Given the description of an element on the screen output the (x, y) to click on. 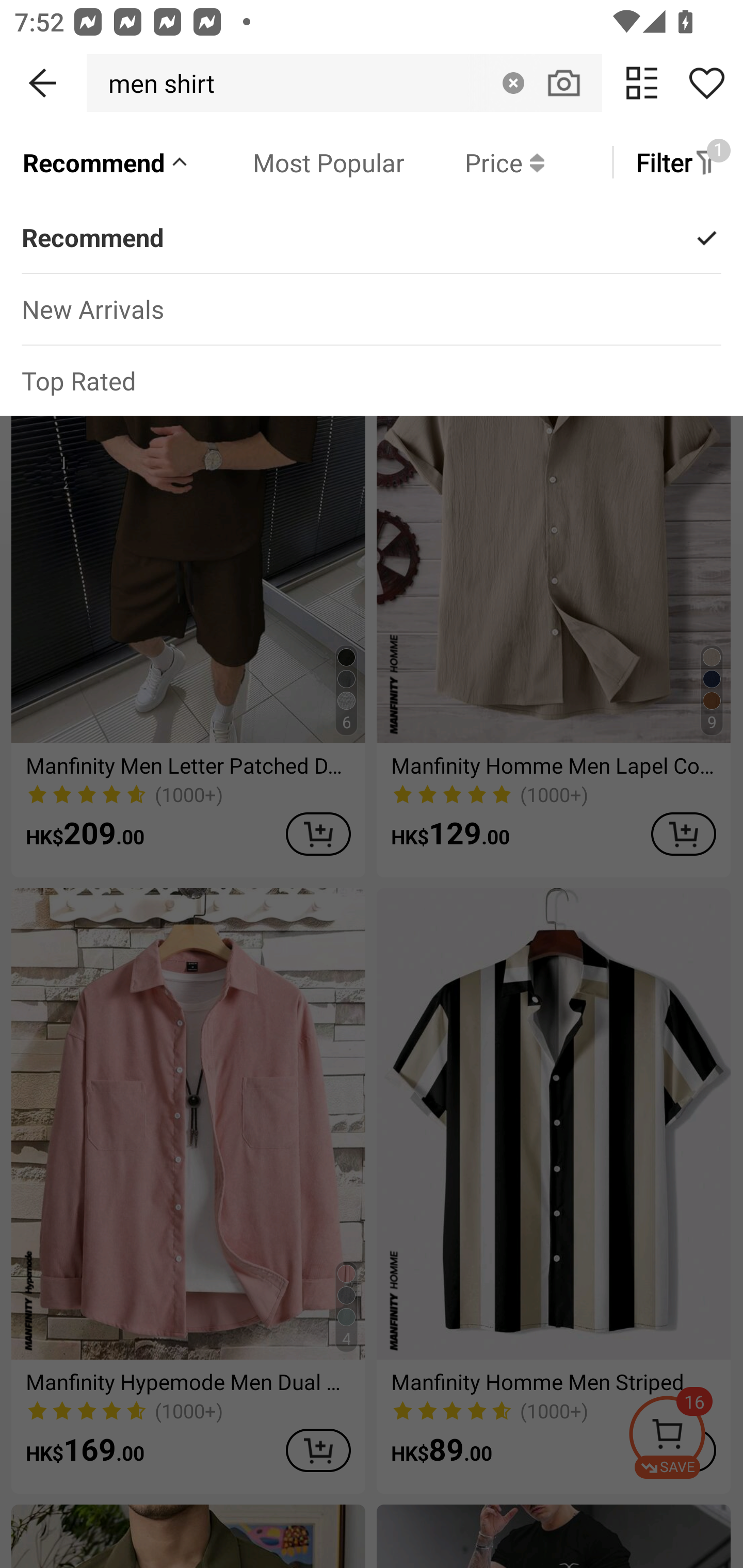
men shirt Clear (343, 82)
men shirt (155, 82)
Clear (513, 82)
change view (641, 82)
Share (706, 82)
Recommend (106, 162)
Most Popular (297, 162)
Price (474, 162)
Filter 1 (677, 162)
